Given the description of an element on the screen output the (x, y) to click on. 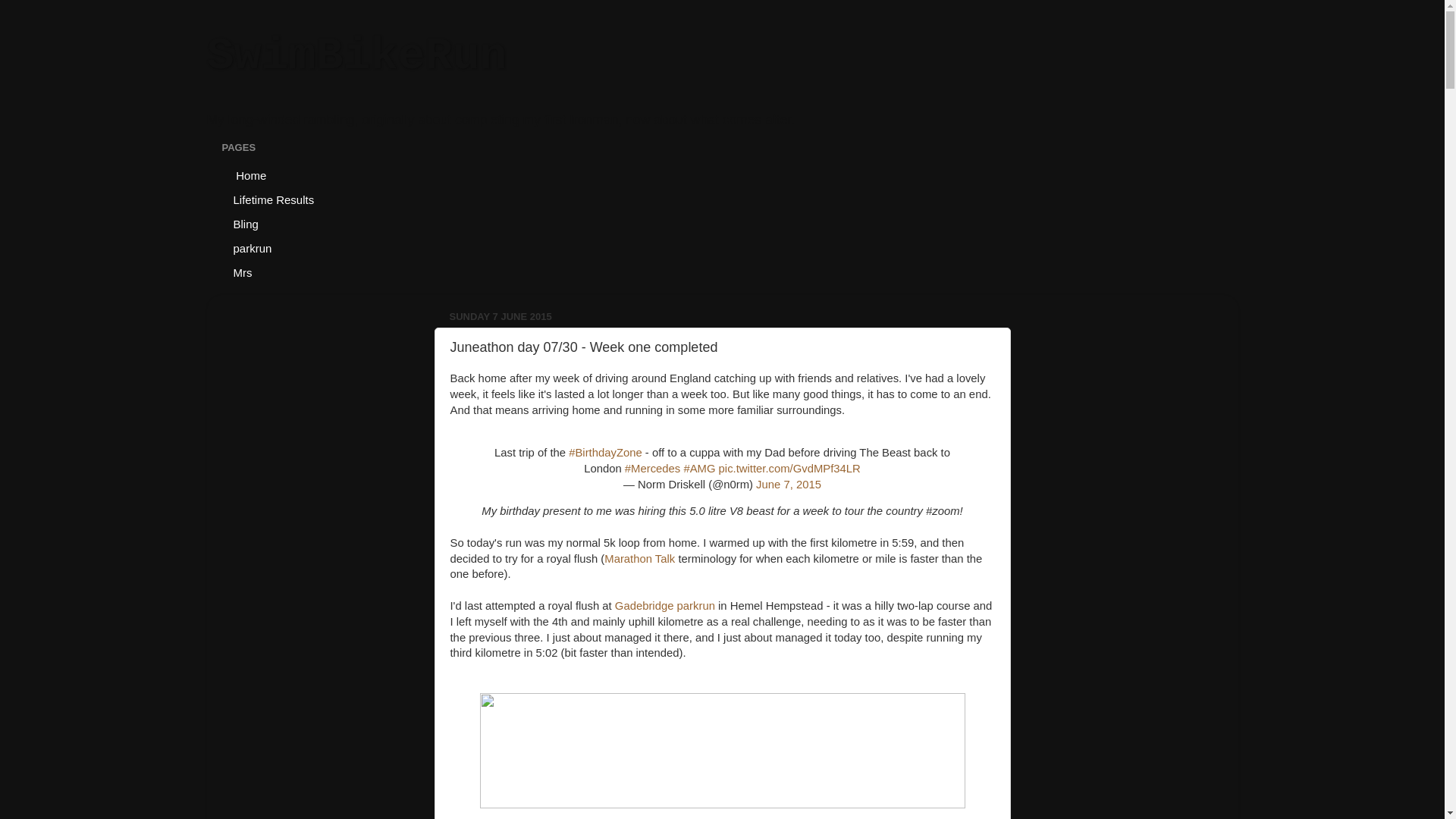
June 7, 2015 (788, 484)
Home (249, 174)
Gadebridge parkrun (664, 605)
Marathon Talk (639, 558)
Bling (245, 223)
Lifetime Results (273, 199)
parkrun (252, 247)
SwimBikeRun (356, 55)
Mrs (242, 272)
